Given the description of an element on the screen output the (x, y) to click on. 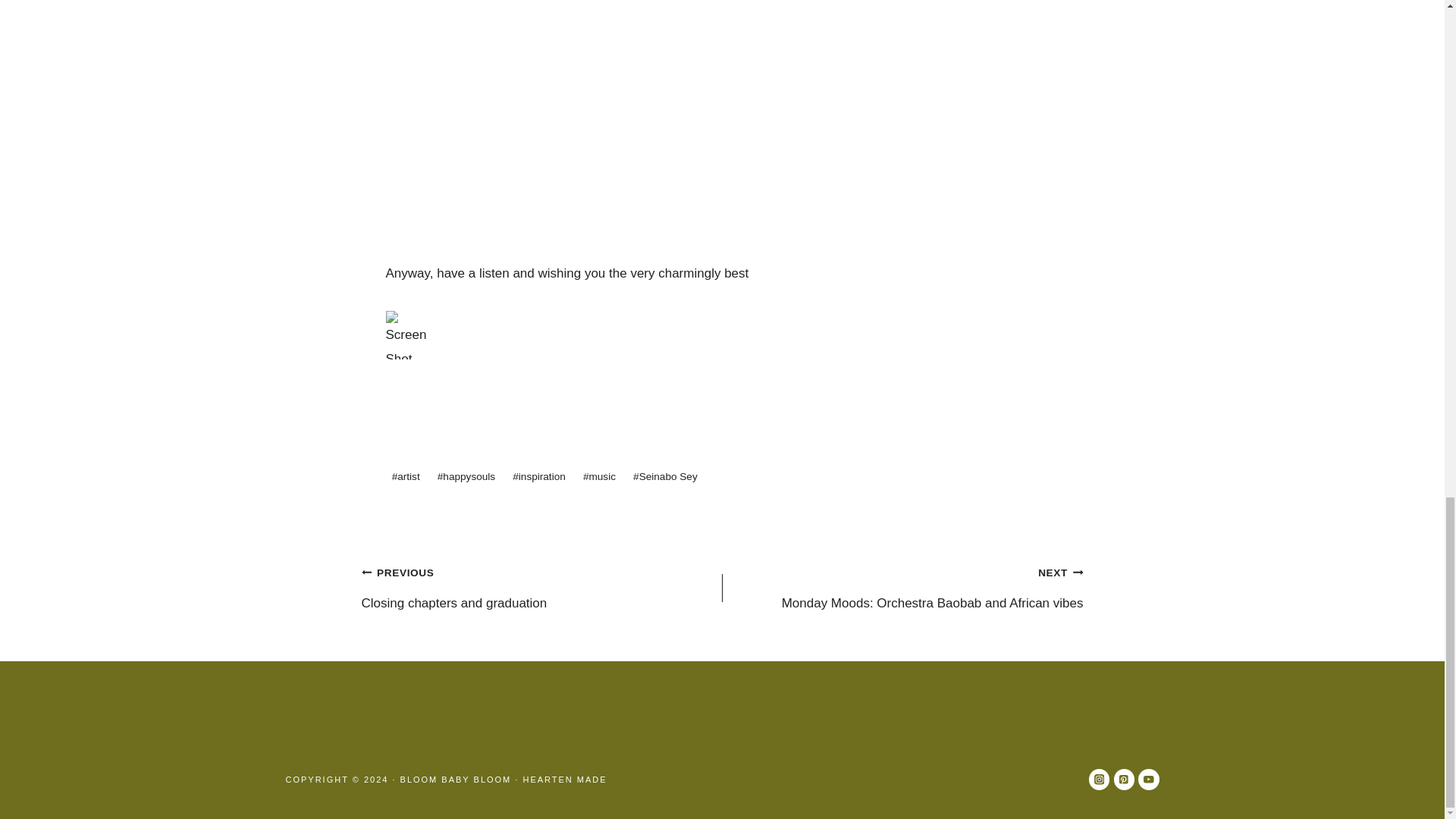
inspiration (539, 477)
Seinabo Sey (665, 477)
artist (405, 477)
happysouls (466, 477)
HEARTEN MADE (541, 587)
music (564, 778)
